Given the description of an element on the screen output the (x, y) to click on. 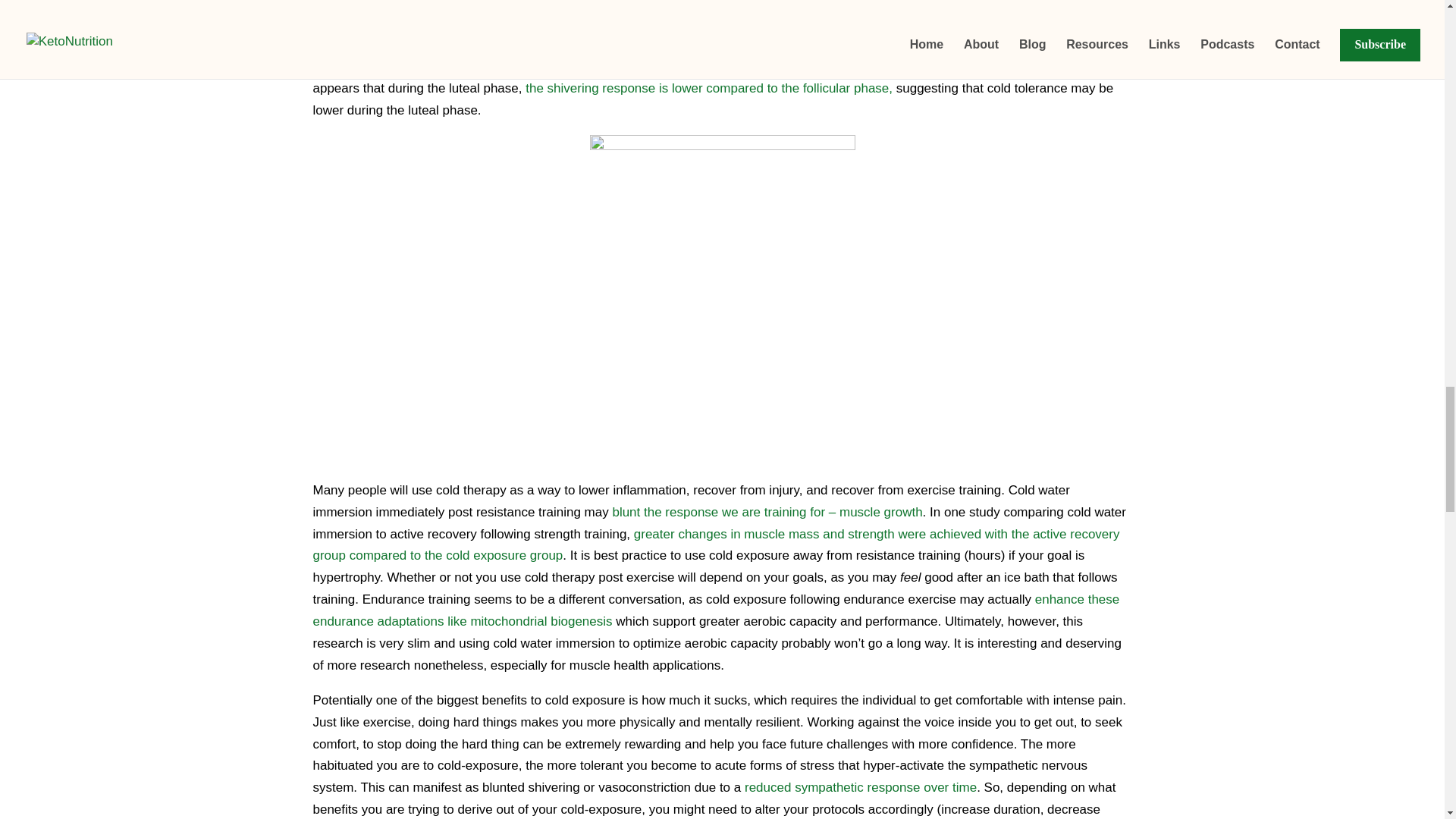
reduced sympathetic response over time (860, 787)
